Given the description of an element on the screen output the (x, y) to click on. 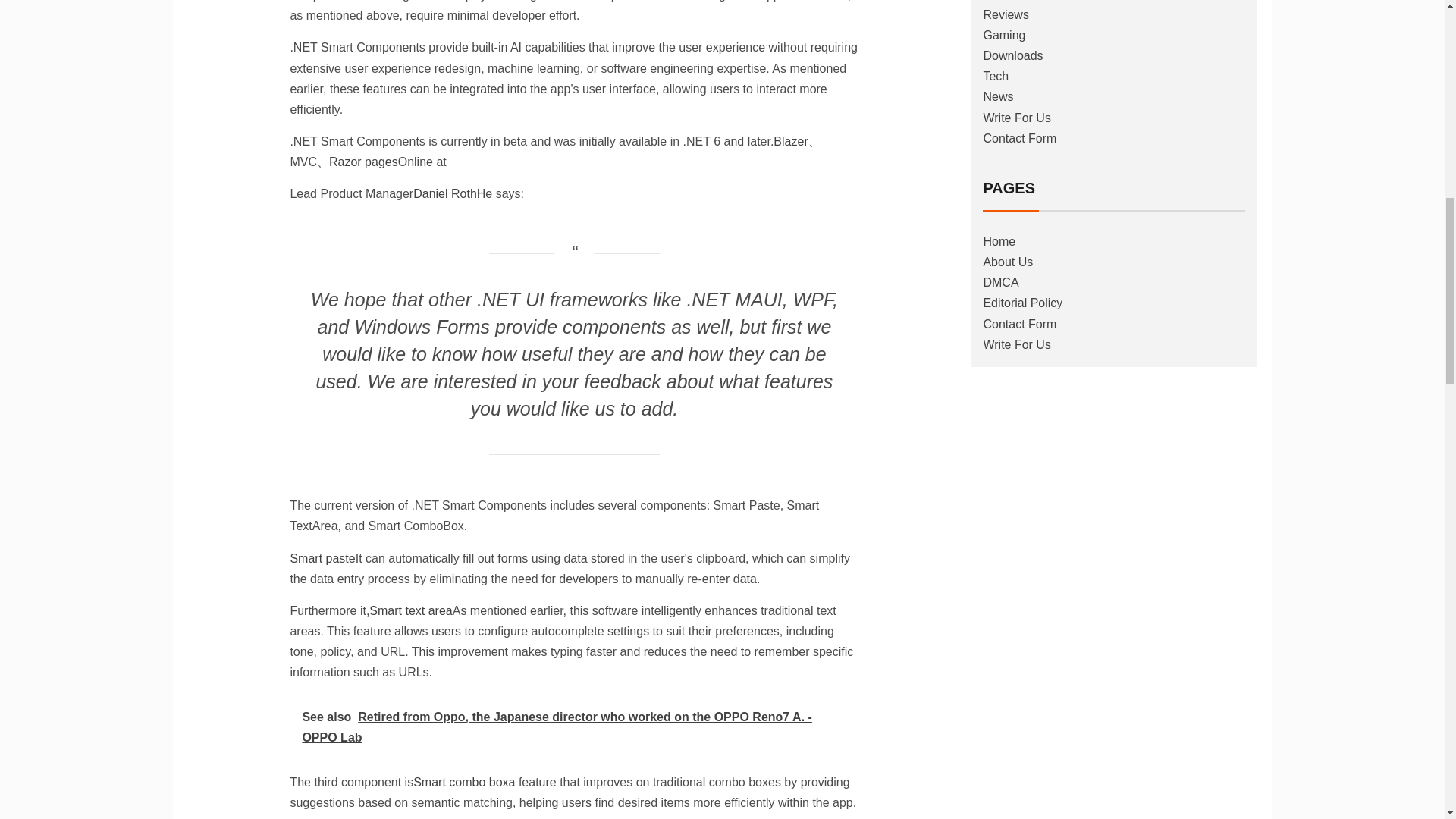
Razor pages (363, 161)
Daniel Roth (445, 193)
Smart combo box (460, 781)
Smart paste (322, 558)
Blazer (790, 141)
Smart text area (410, 610)
